Given the description of an element on the screen output the (x, y) to click on. 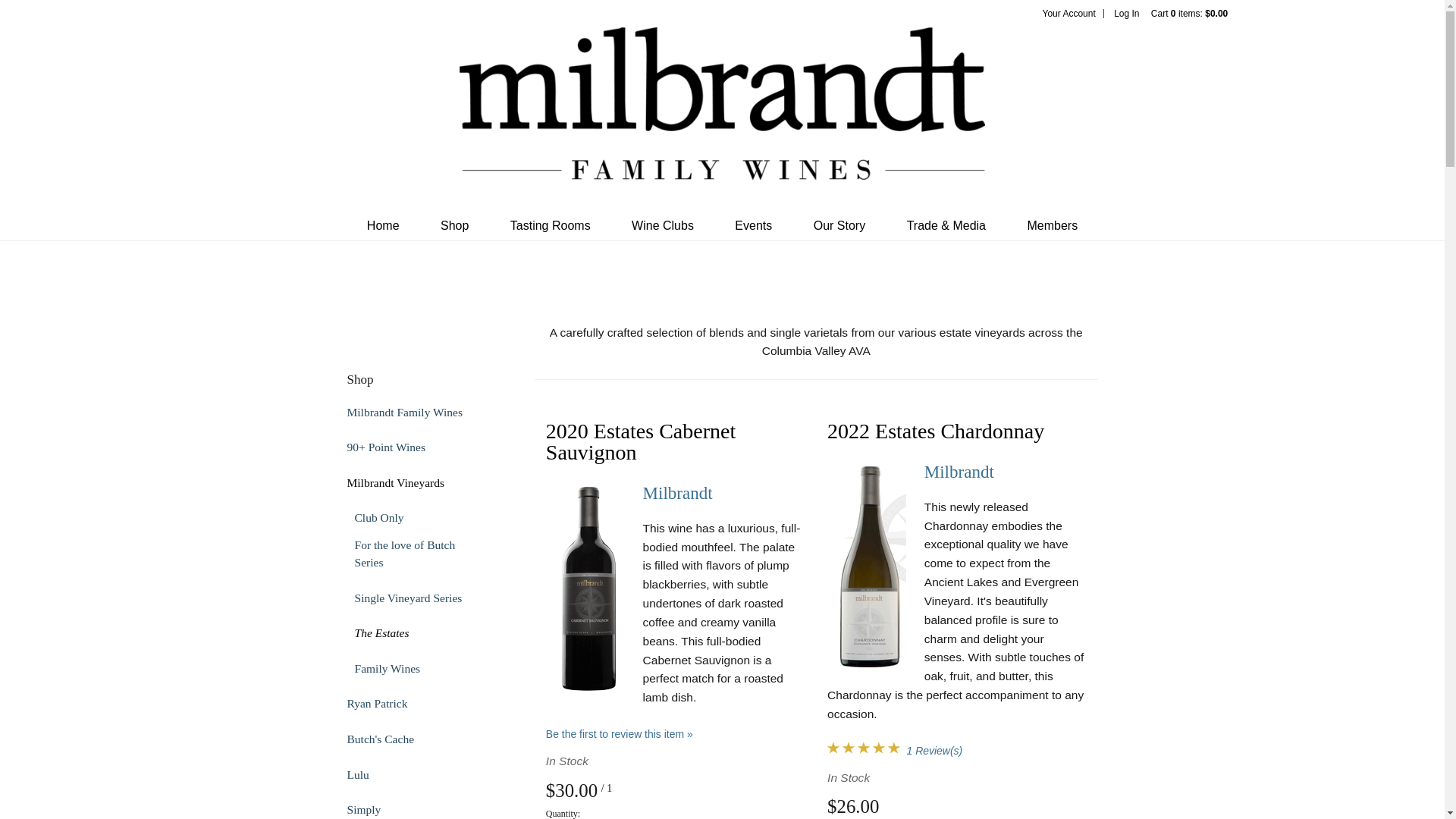
Events (753, 225)
Our Story (838, 225)
Home (382, 225)
Shop (454, 225)
Wine Clubs (662, 225)
Milbrandt Vineyards Home (722, 115)
Log In (1125, 13)
Your Account (1068, 13)
Tasting Rooms (551, 225)
